Given the description of an element on the screen output the (x, y) to click on. 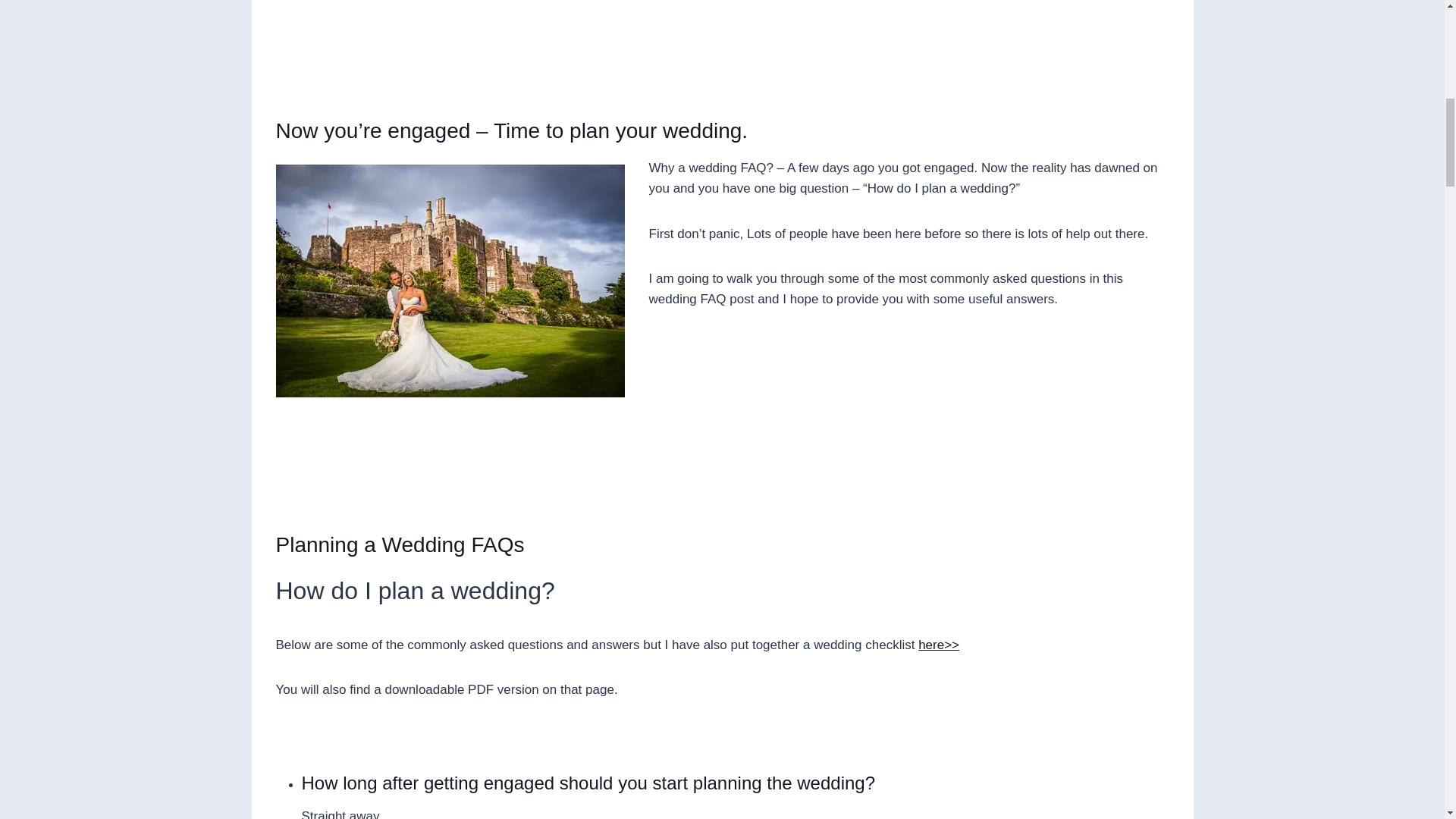
How to Plan a Wedding - FAQs. 2 (450, 280)
